Given the description of an element on the screen output the (x, y) to click on. 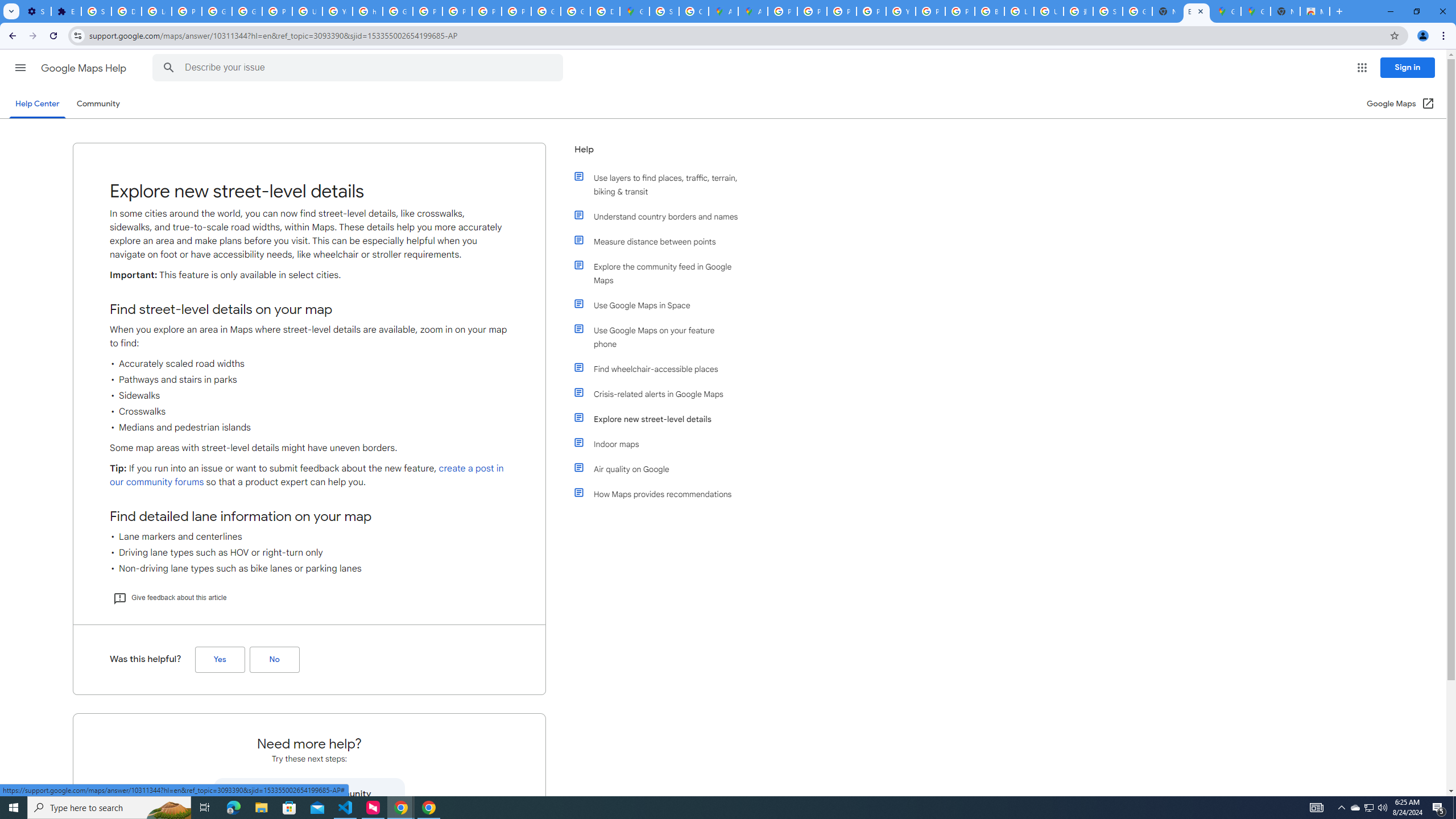
Sign in - Google Accounts (1107, 11)
Privacy Help Center - Policies Help (426, 11)
create a post in our community forums (306, 475)
Search Help Center (168, 67)
Sign in - Google Accounts (95, 11)
Yes (Was this helpful?) (219, 660)
Privacy Help Center - Policies Help (811, 11)
Privacy Help Center - Policies Help (841, 11)
Use Google Maps on your feature phone (661, 336)
